Given the description of an element on the screen output the (x, y) to click on. 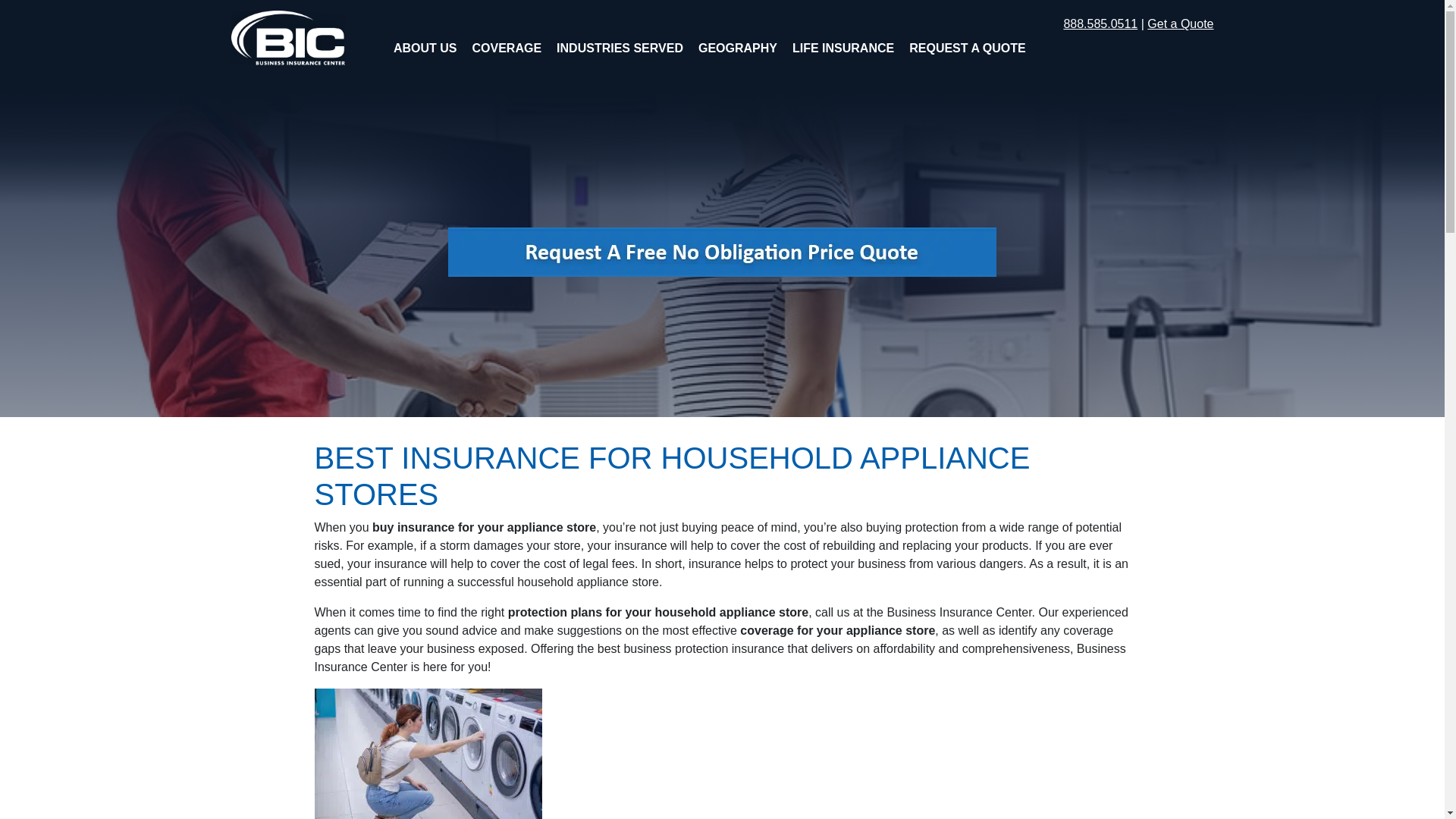
ABOUT US (424, 48)
LIFE INSURANCE (842, 48)
COVERAGE (507, 48)
Get a Quote (1179, 23)
INDUSTRIES SERVED (619, 48)
GEOGRAPHY (737, 48)
888.585.0511 (1099, 23)
